Given the description of an element on the screen output the (x, y) to click on. 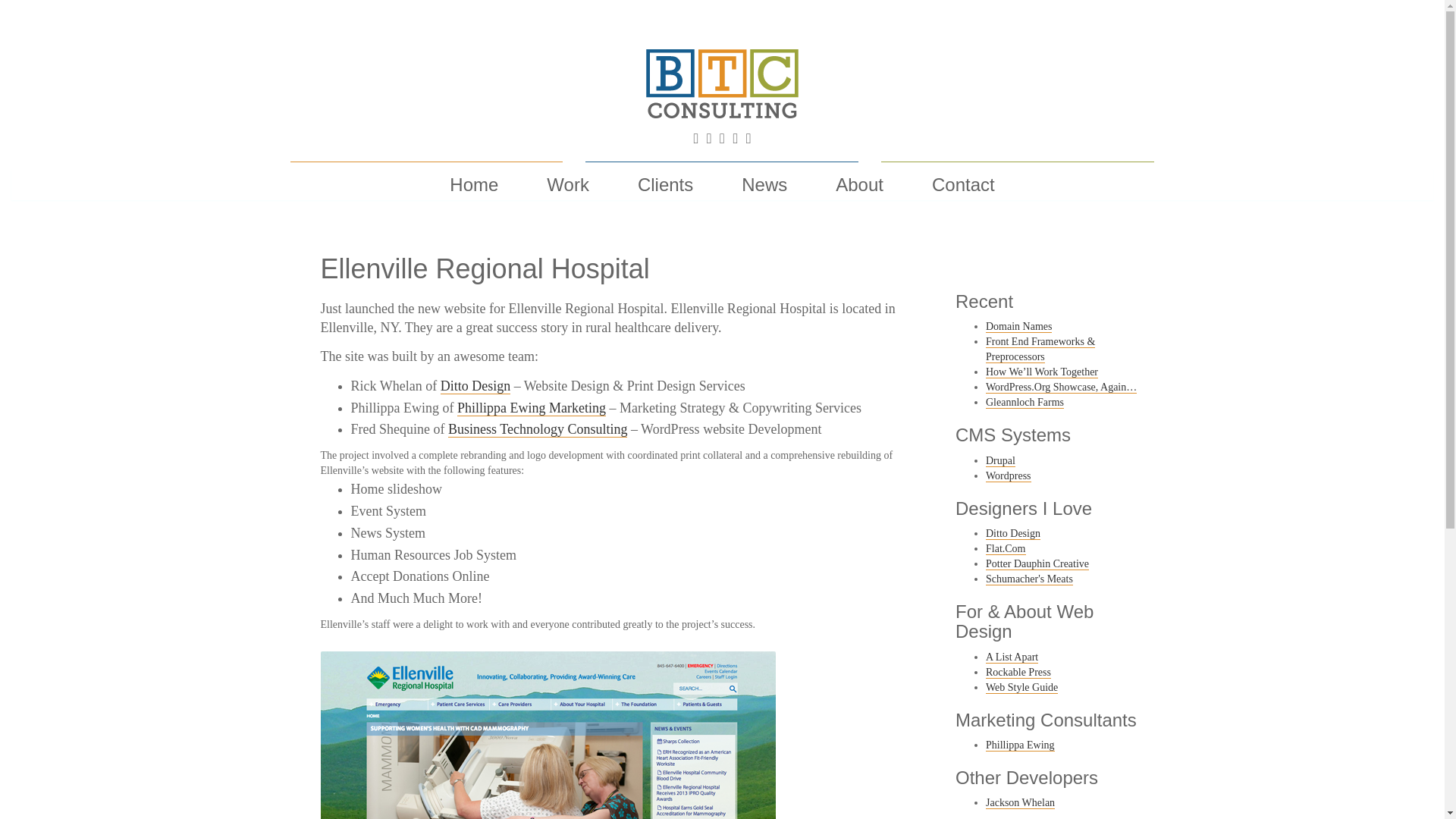
Web Style Guide (1021, 687)
Schumacher's Meats (1029, 579)
Ditto Design (1013, 533)
Drupal (999, 460)
Jackson Whelan (1019, 802)
Ditto Design (476, 385)
Work (567, 184)
A List Apart (1011, 657)
News (763, 184)
Clients (664, 184)
